Given the description of an element on the screen output the (x, y) to click on. 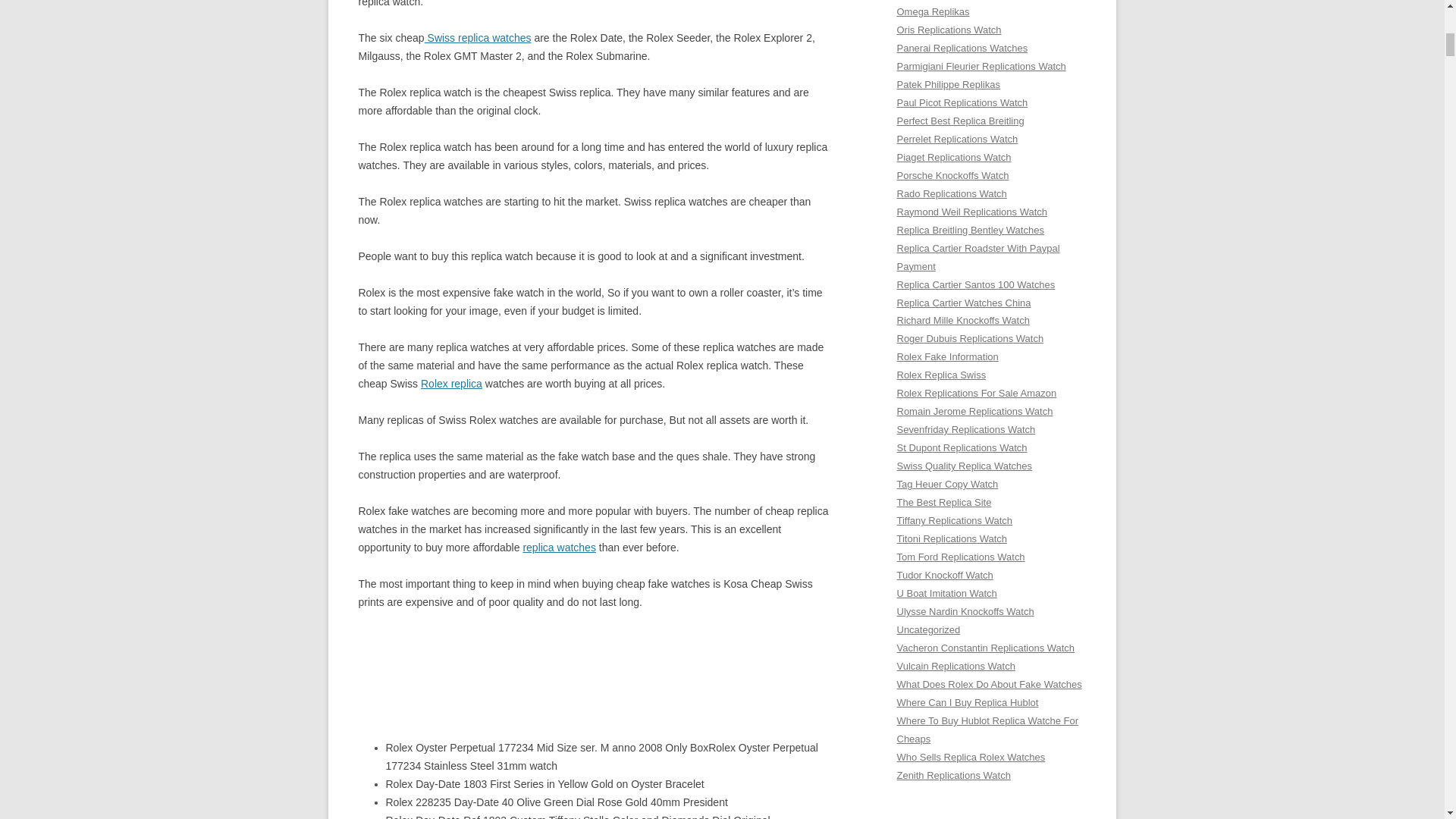
replica watches (558, 547)
Swiss replica watches (478, 37)
Rolex replica (450, 383)
